Given the description of an element on the screen output the (x, y) to click on. 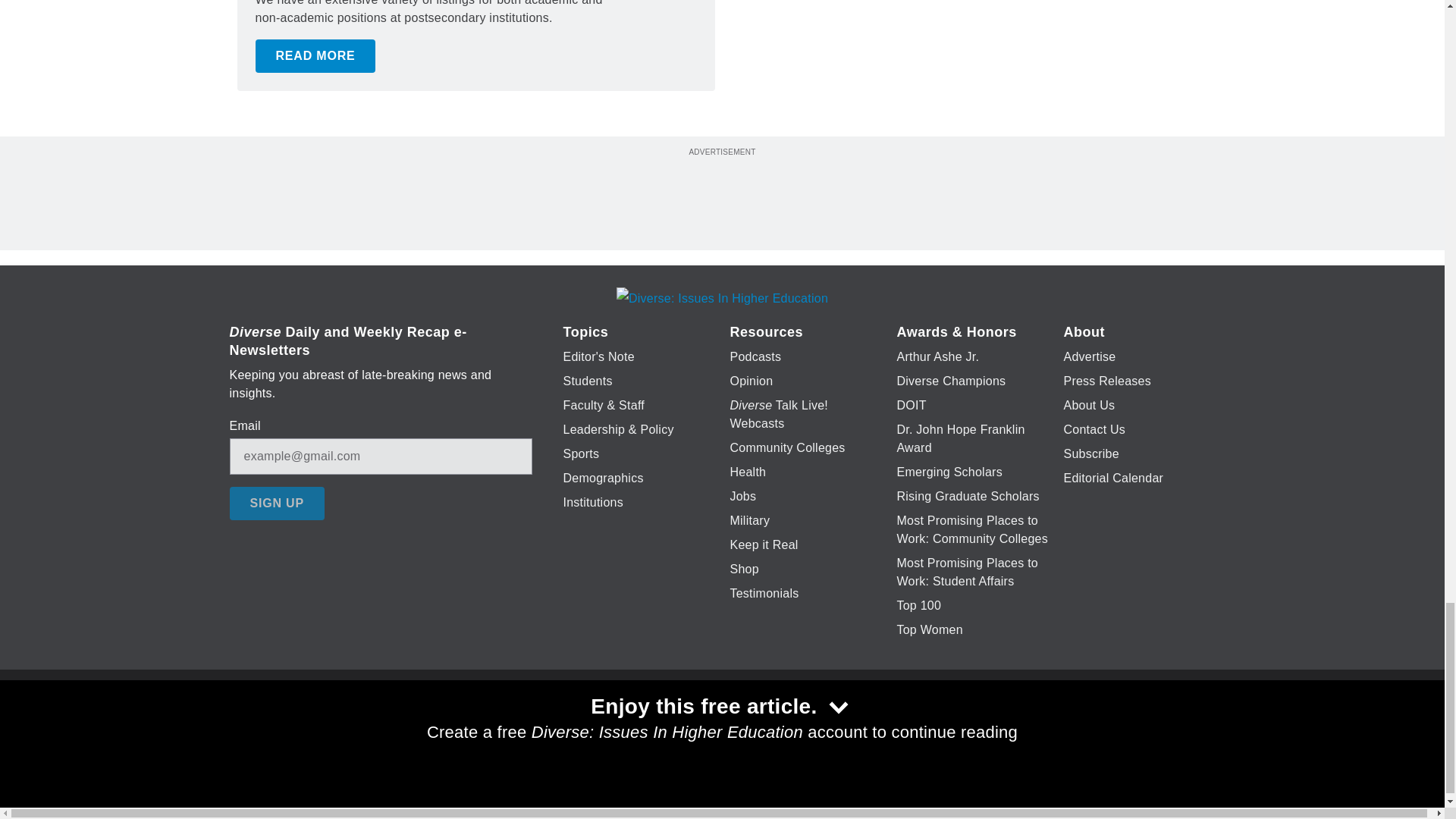
Twitter X icon (674, 727)
Facebook icon (635, 727)
Instagram icon (796, 727)
YouTube icon (757, 727)
LinkedIn icon (718, 727)
